Given the description of an element on the screen output the (x, y) to click on. 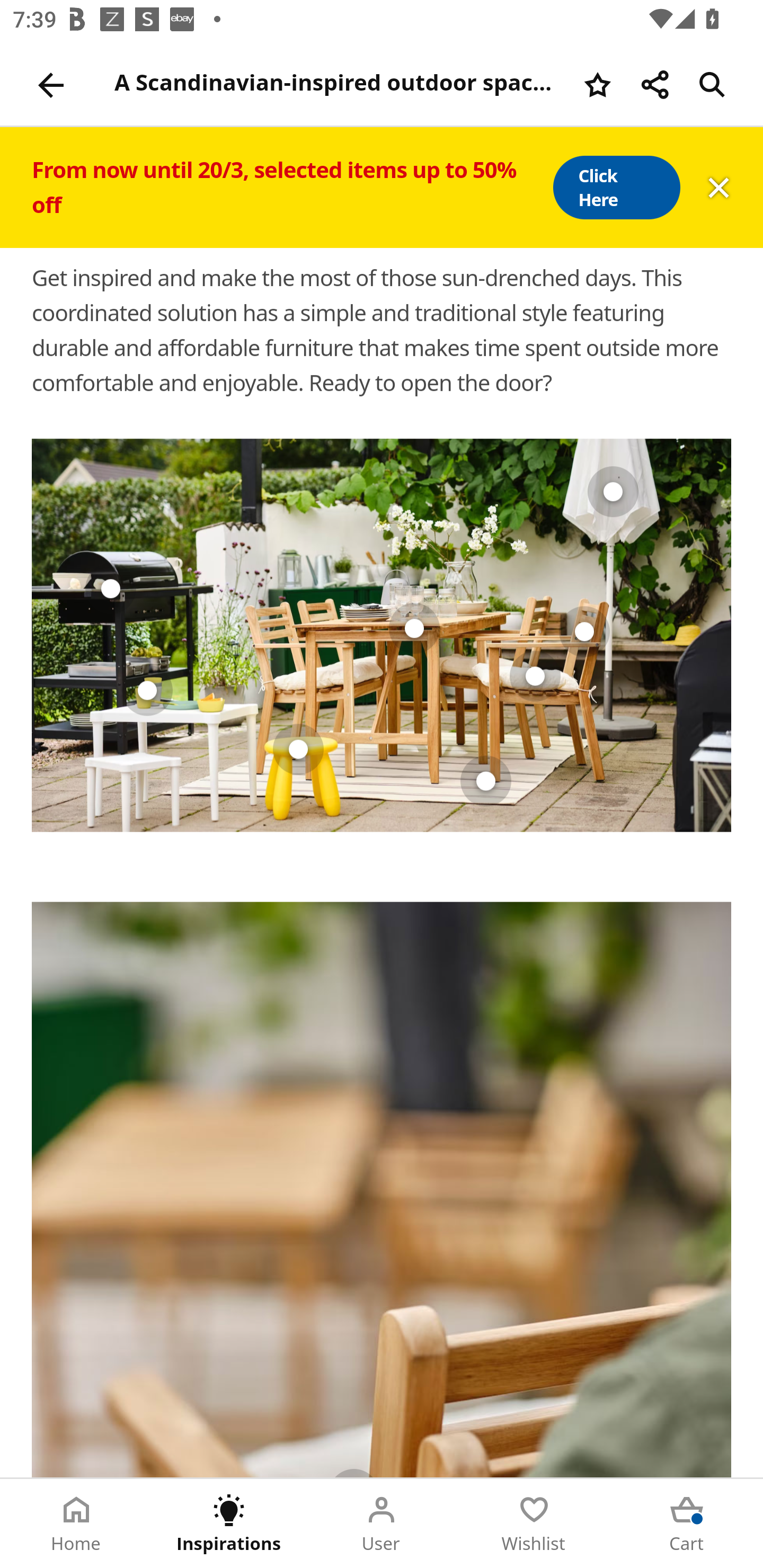
Click Here (615, 187)
Home
Tab 1 of 5 (76, 1522)
Inspirations
Tab 2 of 5 (228, 1522)
User
Tab 3 of 5 (381, 1522)
Wishlist
Tab 4 of 5 (533, 1522)
Cart
Tab 5 of 5 (686, 1522)
